Given the description of an element on the screen output the (x, y) to click on. 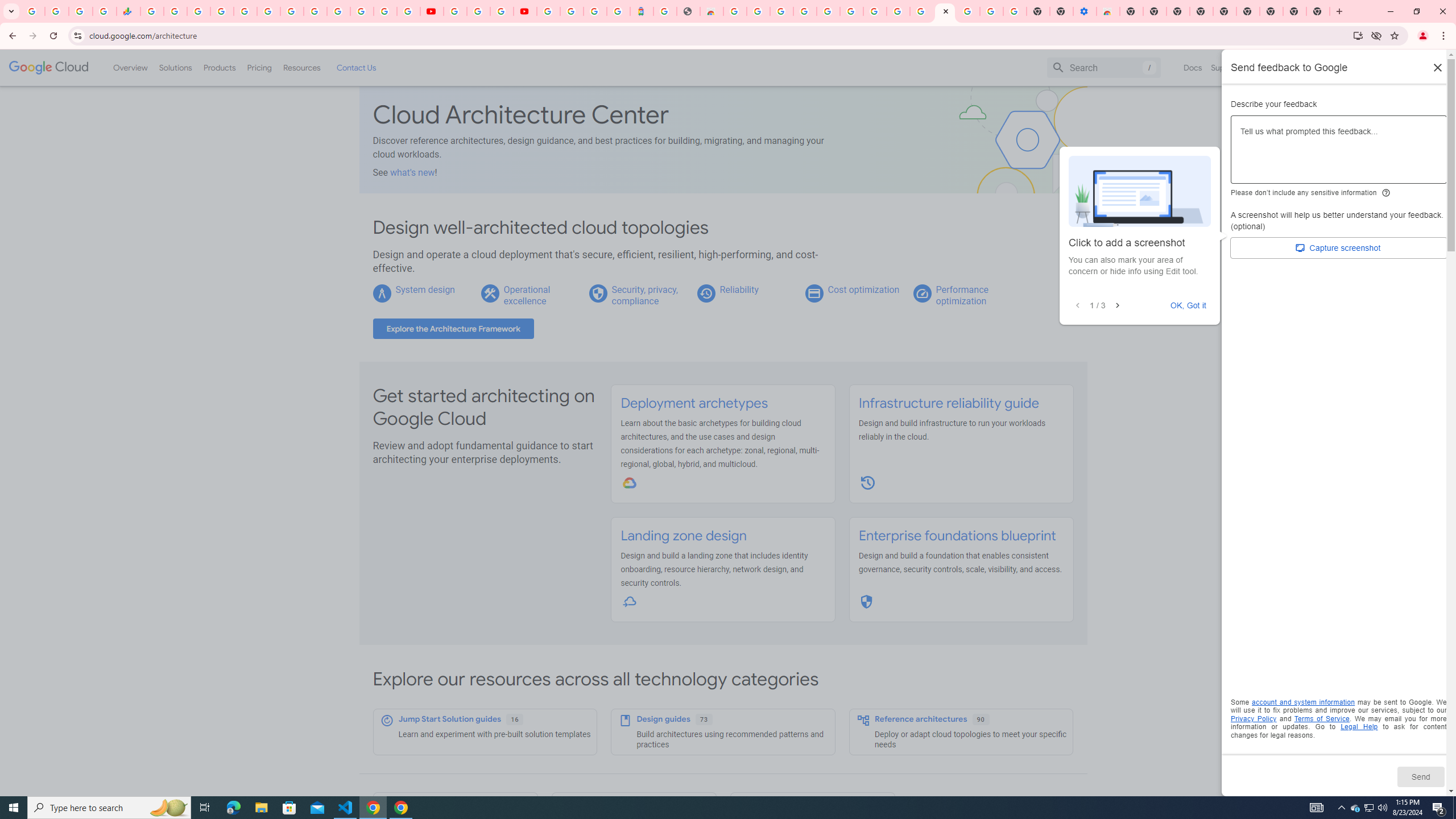
Google Workspace Admin Community (32, 11)
Atour Hotel - Google hotels (641, 11)
YouTube (314, 11)
Pricing (259, 67)
Capture screenshot (1338, 247)
Describe your feedback (1338, 153)
Reliability (738, 289)
Previous (1078, 305)
Chrome Web Store - Household (711, 11)
New Tab (1271, 11)
Docs (1192, 67)
Opens in a new tab. Legal Help (1358, 727)
